Given the description of an element on the screen output the (x, y) to click on. 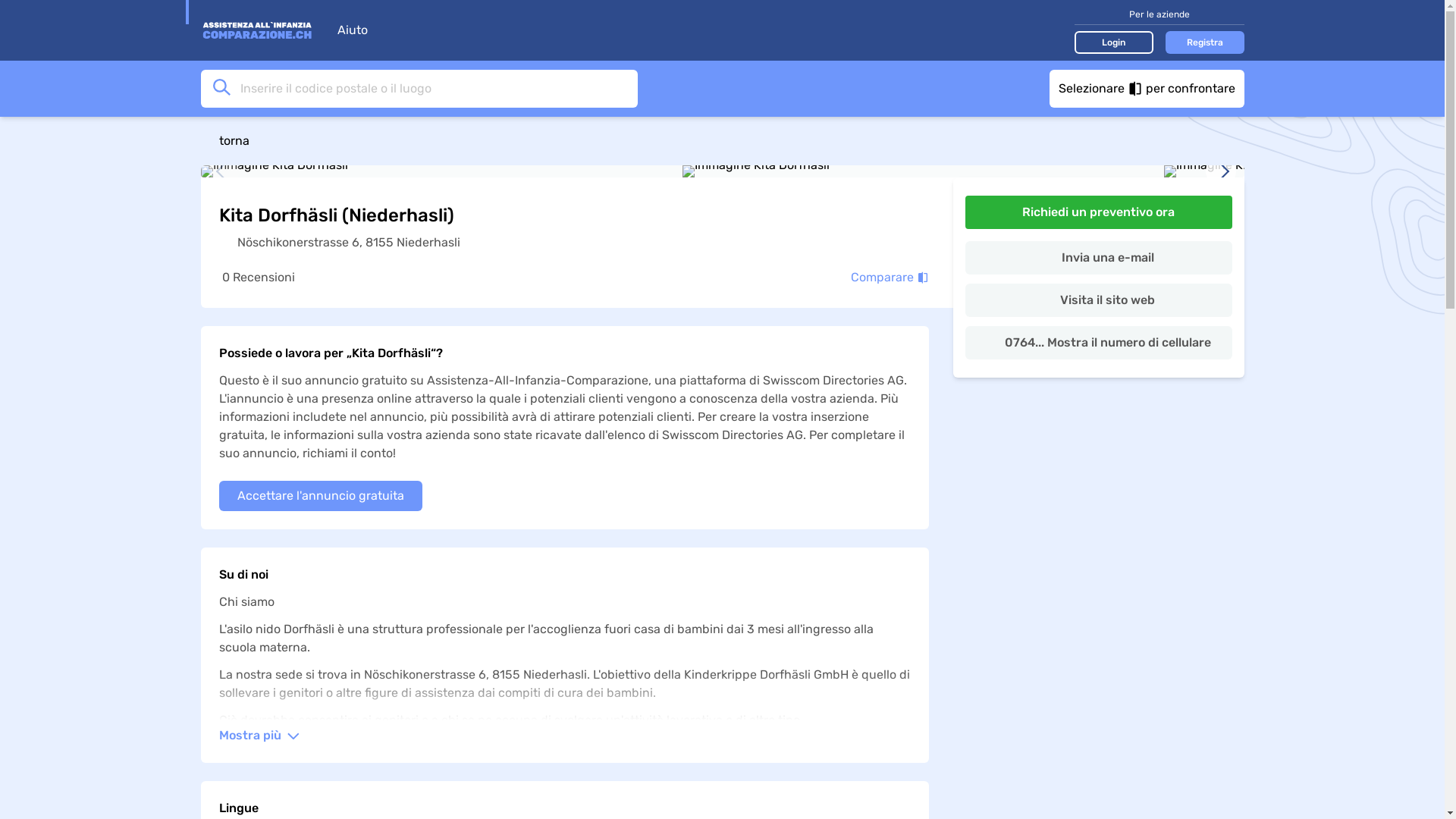
Registra Element type: text (1203, 41)
immagine successiva Element type: hover (1220, 171)
Vai alla home page Element type: hover (260, 30)
Comparare Element type: text (889, 277)
Aiuto Element type: text (359, 30)
Login Element type: text (1112, 41)
Richiedi un preventivo ora Element type: text (1097, 212)
Invia una e-mail Element type: text (1097, 257)
Immagine precedente Element type: hover (224, 171)
Selezionare
per confrontare Element type: text (1146, 88)
Accettare l'annuncio gratuita Element type: text (319, 495)
torna Element type: text (721, 140)
Visita il sito web Element type: text (1097, 299)
